Given the description of an element on the screen output the (x, y) to click on. 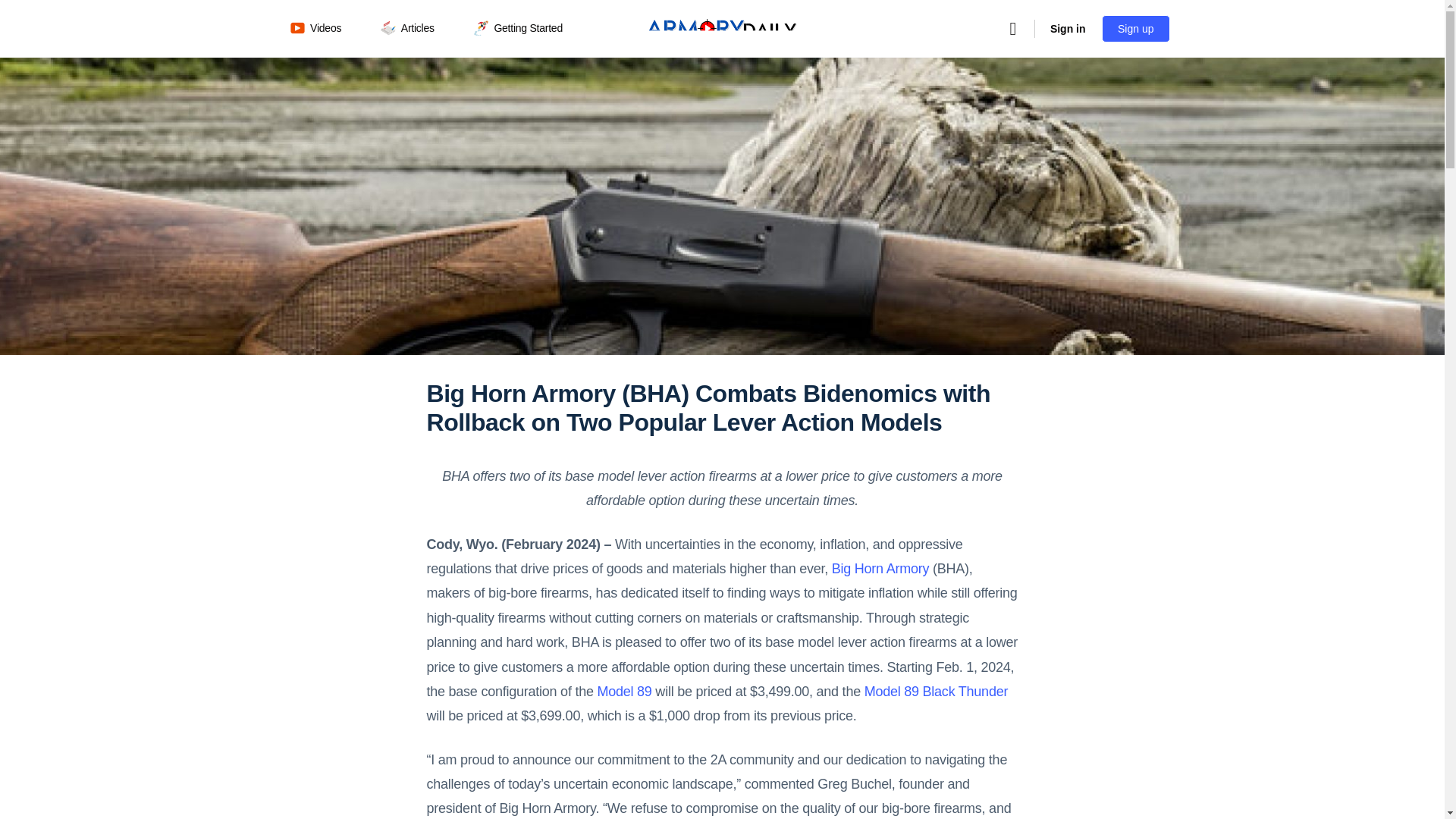
Model 89 (623, 691)
Sign in (1067, 28)
Getting Started (524, 28)
Sign up (1135, 28)
Articles (413, 28)
Videos (321, 28)
Model 89 Black Thunder (936, 691)
Big Horn Armory (879, 568)
